Given the description of an element on the screen output the (x, y) to click on. 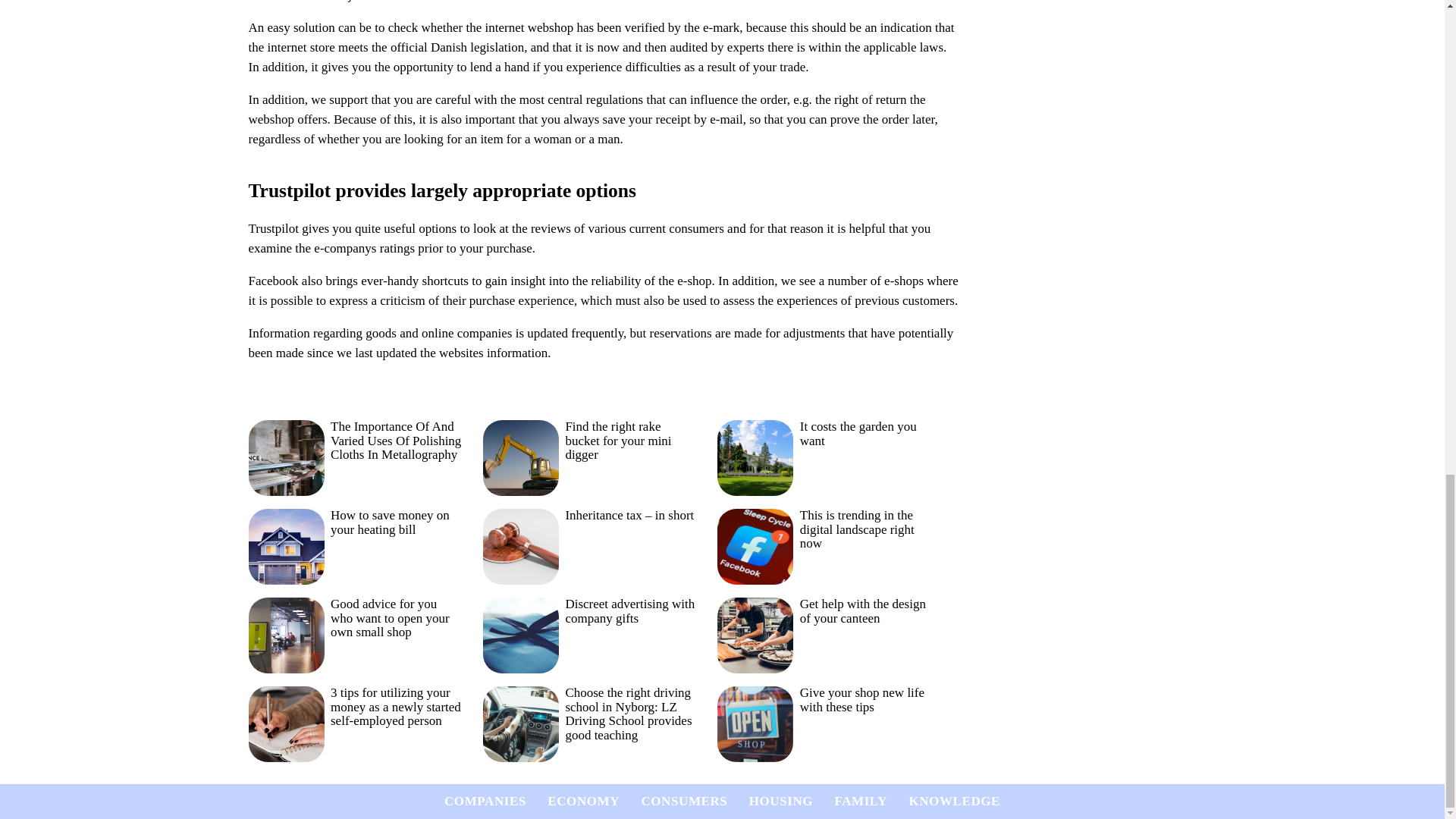
Find the right rake bucket for your mini digger (589, 458)
Discreet advertising with company gifts (589, 635)
Get help with the design of your canteen (823, 635)
This is trending in the digital landscape right now (823, 546)
How to save money on your heating bill (354, 546)
Give your shop new life with these tips (823, 724)
ECONOMY (583, 800)
CONSUMERS (683, 800)
COMPANIES (484, 800)
Good advice for you who want to open your own small shop (354, 635)
It costs the garden you want (823, 458)
